Given the description of an element on the screen output the (x, y) to click on. 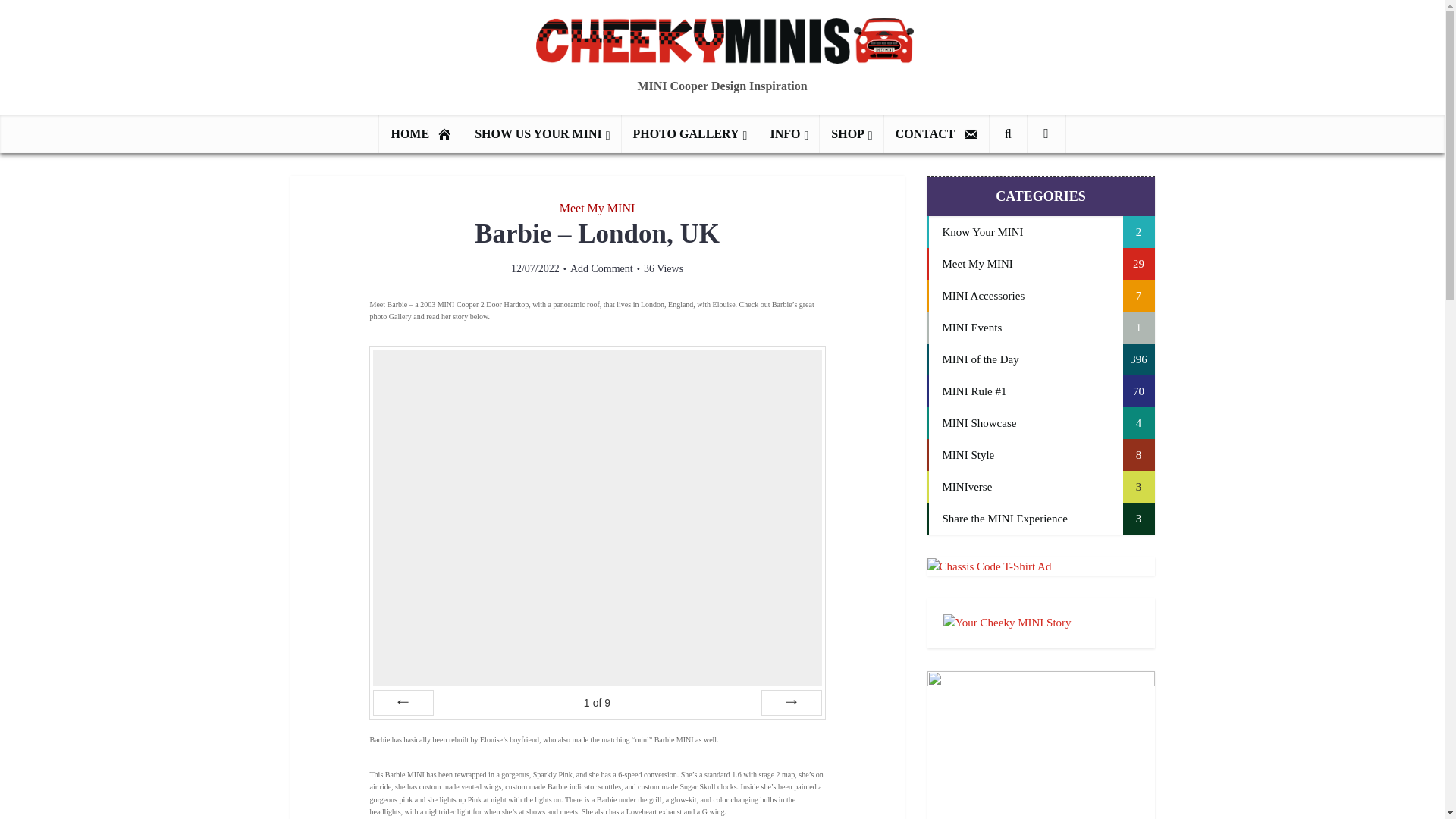
INFO (788, 134)
HOME (420, 134)
PHOTO GALLERY (689, 134)
SHOW US YOUR MINI (542, 134)
CONTACT (936, 134)
SHOP (851, 134)
